Given the description of an element on the screen output the (x, y) to click on. 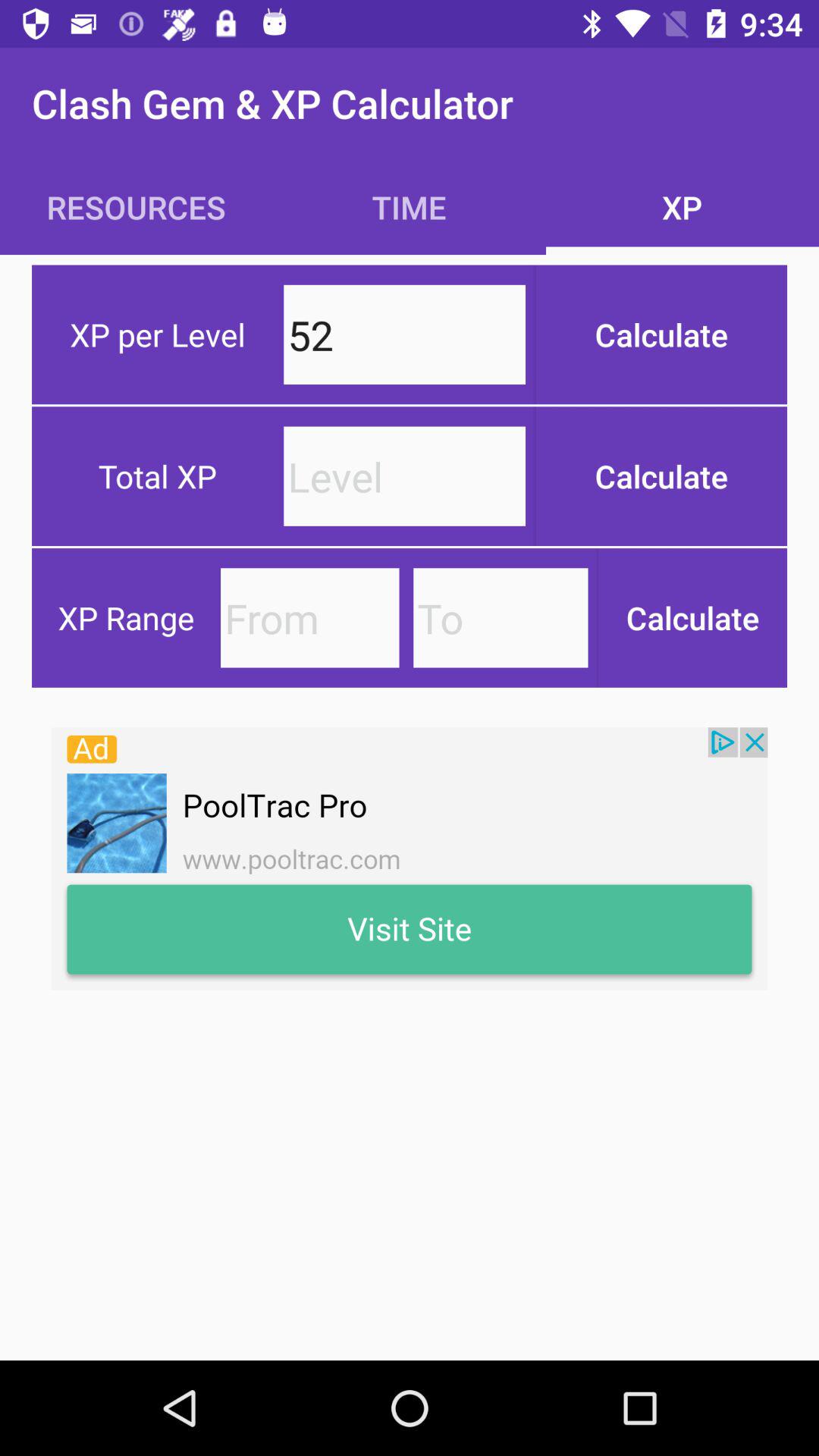
xp range from text box (309, 617)
